Given the description of an element on the screen output the (x, y) to click on. 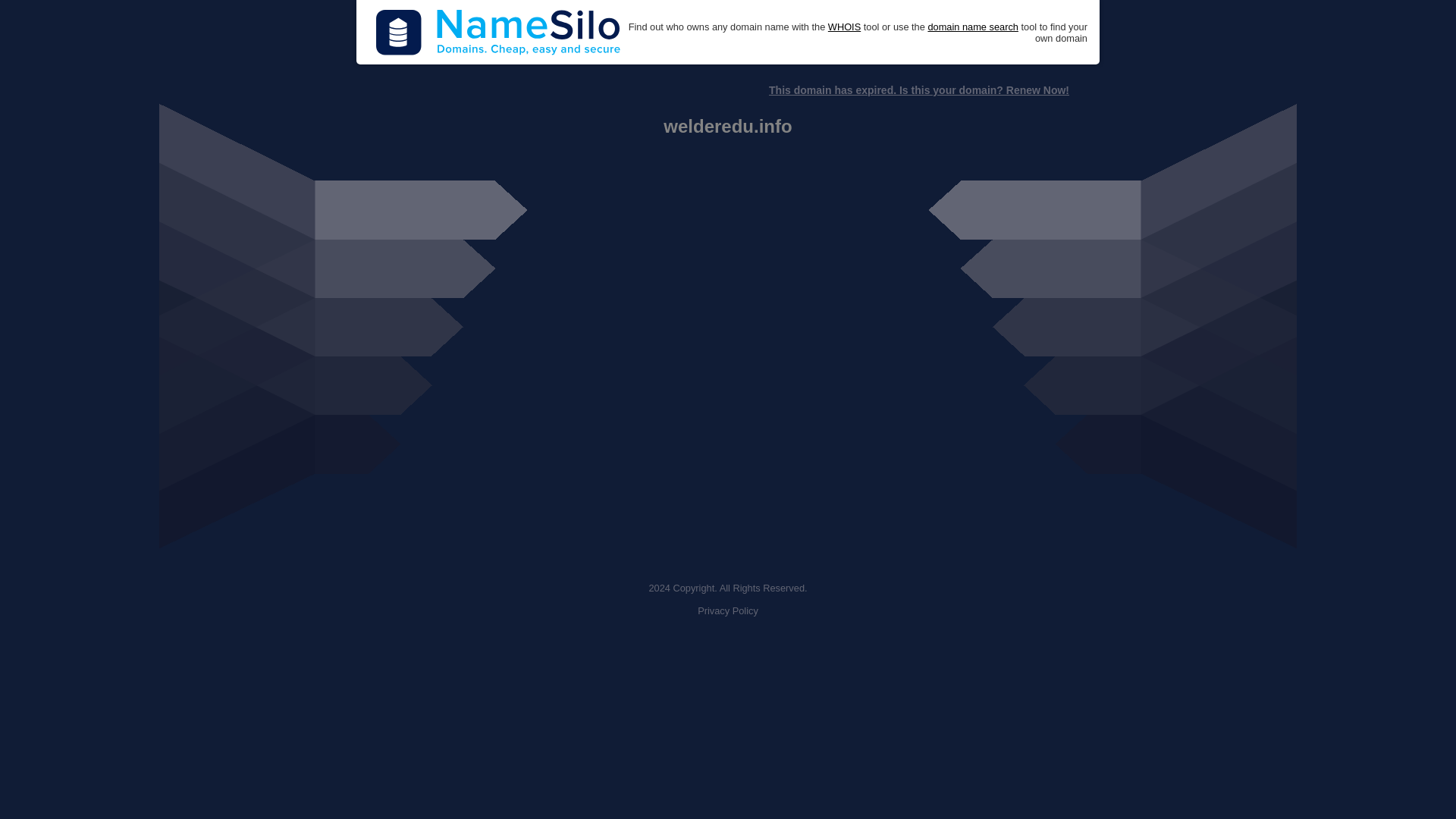
Privacy Policy (727, 610)
WHOIS (844, 26)
This domain has expired. Is this your domain? Renew Now! (918, 90)
domain name search (972, 26)
